Given the description of an element on the screen output the (x, y) to click on. 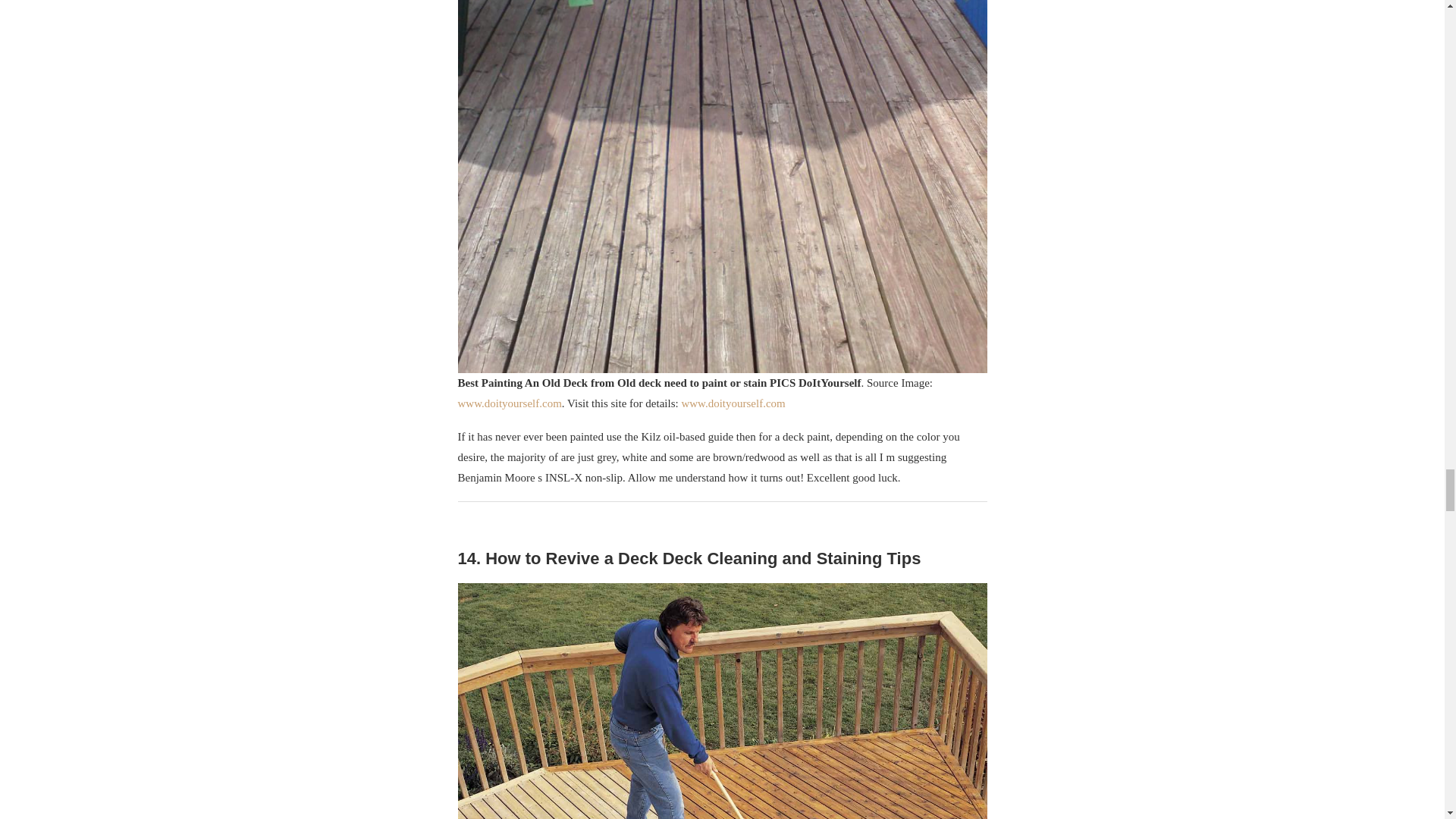
how to revive a deck (722, 701)
